Given the description of an element on the screen output the (x, y) to click on. 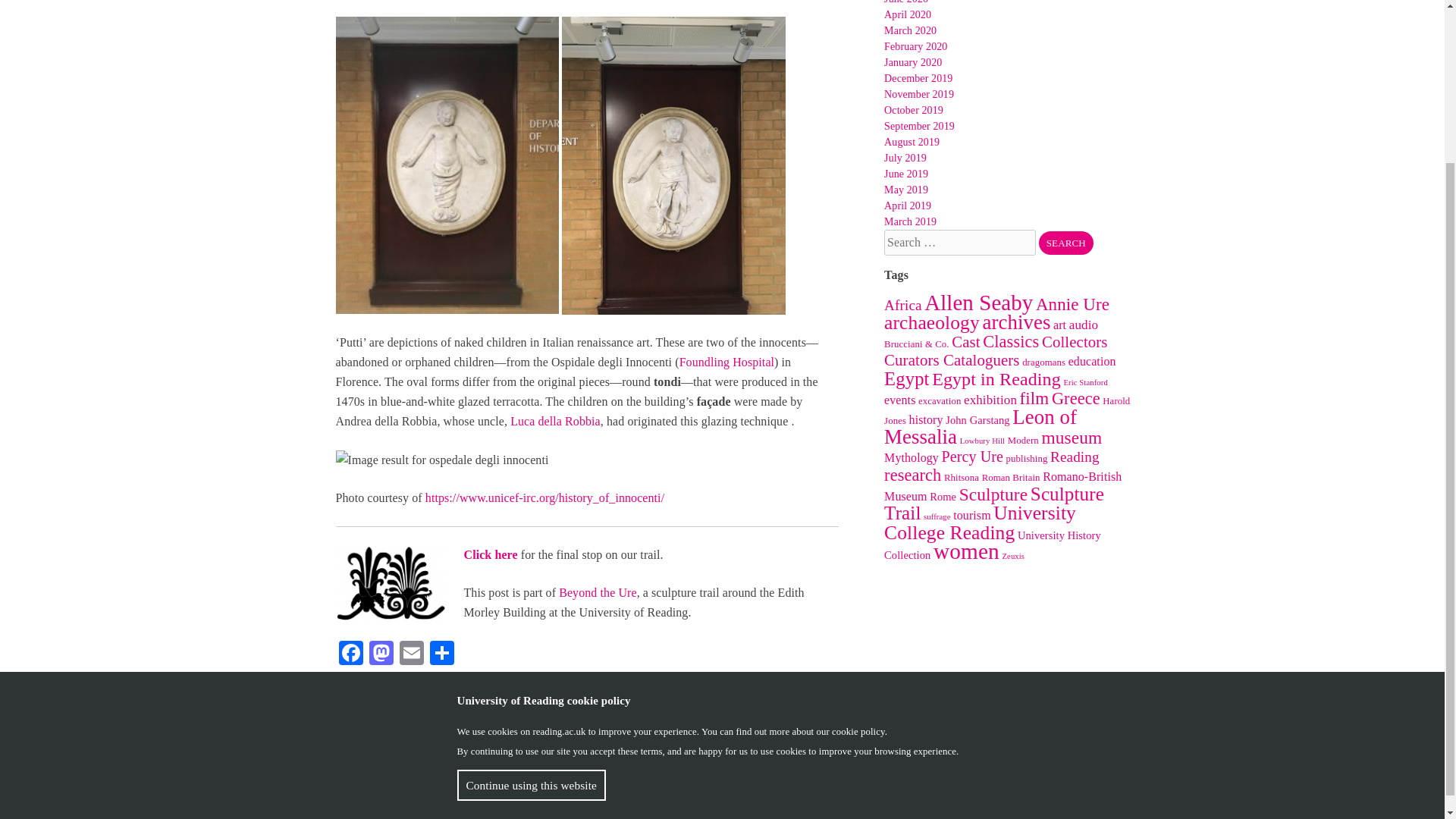
Email (411, 654)
January 2020 (912, 61)
June 2020 (905, 2)
Facebook opens up in new browser window (1036, 798)
Facebook (349, 654)
View all posts tagged Cast (456, 710)
November 2019 (918, 93)
Search (1066, 242)
View all posts tagged Sculpture (530, 710)
Foundling Hospital (726, 361)
